Given the description of an element on the screen output the (x, y) to click on. 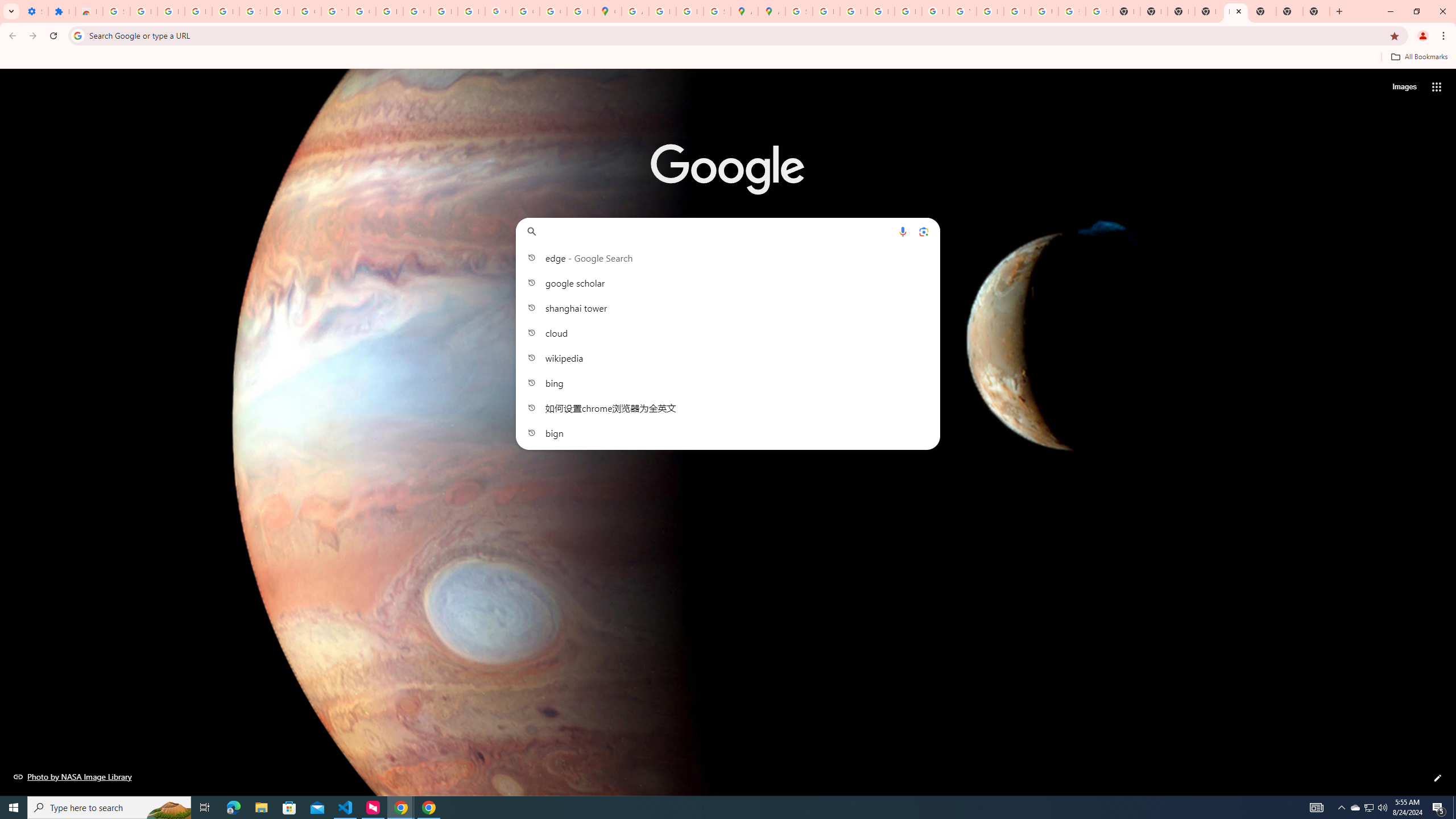
YouTube (962, 11)
Google Maps (607, 11)
